Given the description of an element on the screen output the (x, y) to click on. 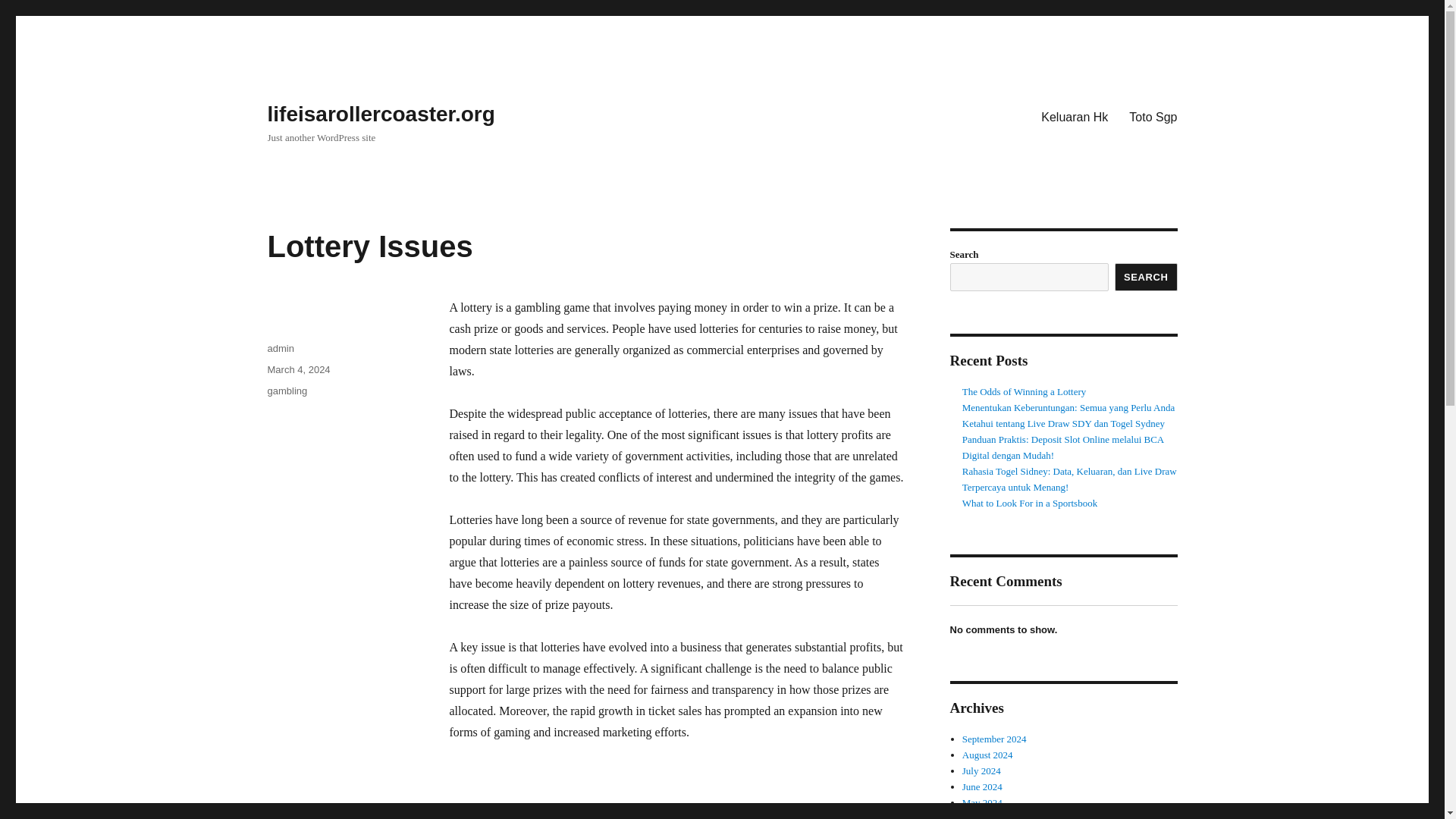
August 2024 (987, 754)
gambling (286, 390)
May 2024 (982, 802)
June 2024 (982, 786)
Keluaran Hk (1074, 116)
Toto Sgp (1153, 116)
What to Look For in a Sportsbook (1029, 502)
The Odds of Winning a Lottery (1024, 391)
July 2024 (981, 770)
September 2024 (994, 738)
